Given the description of an element on the screen output the (x, y) to click on. 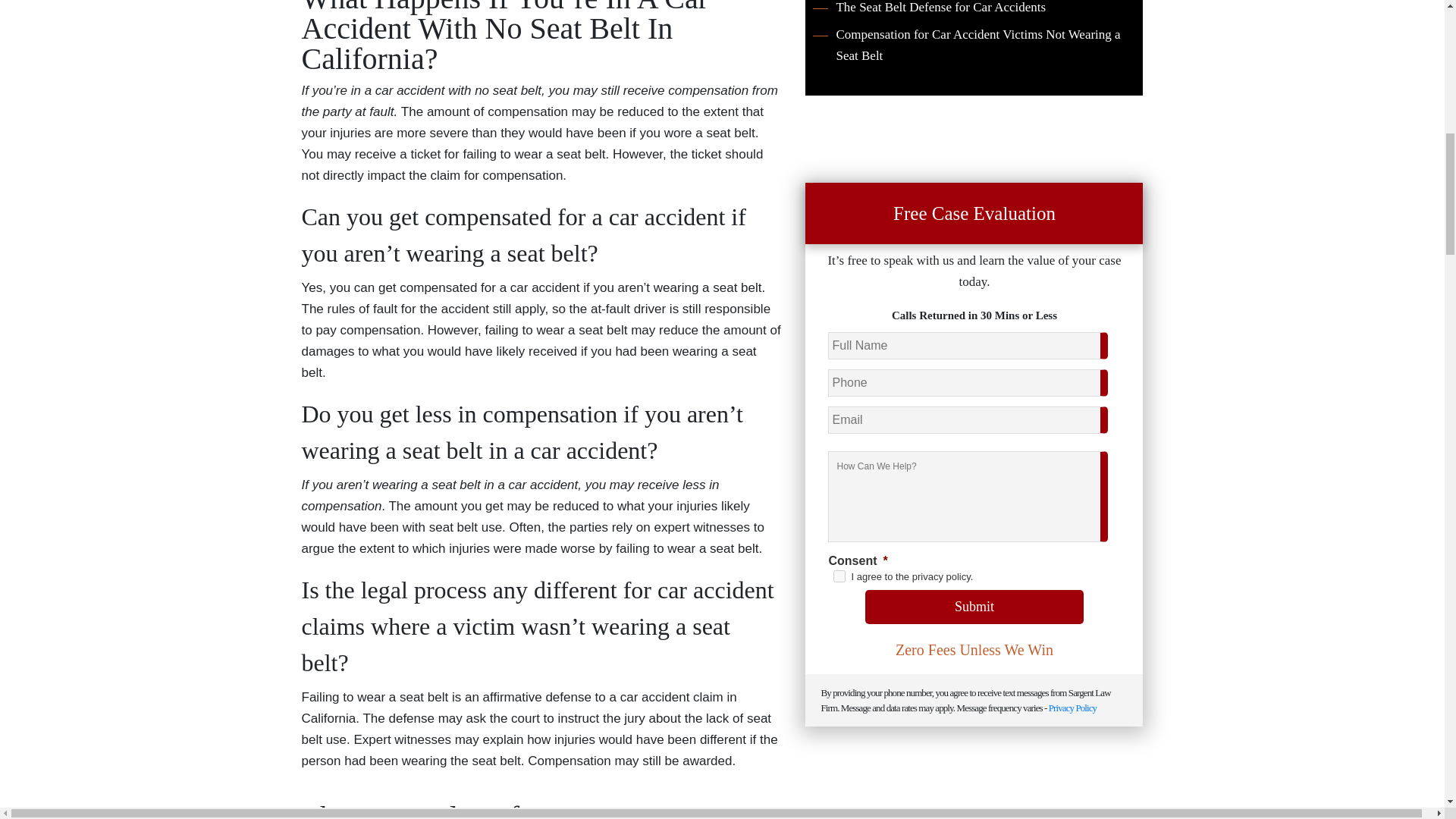
1 (839, 576)
The Seat Belt Defense for Car Accidents (928, 9)
